Given the description of an element on the screen output the (x, y) to click on. 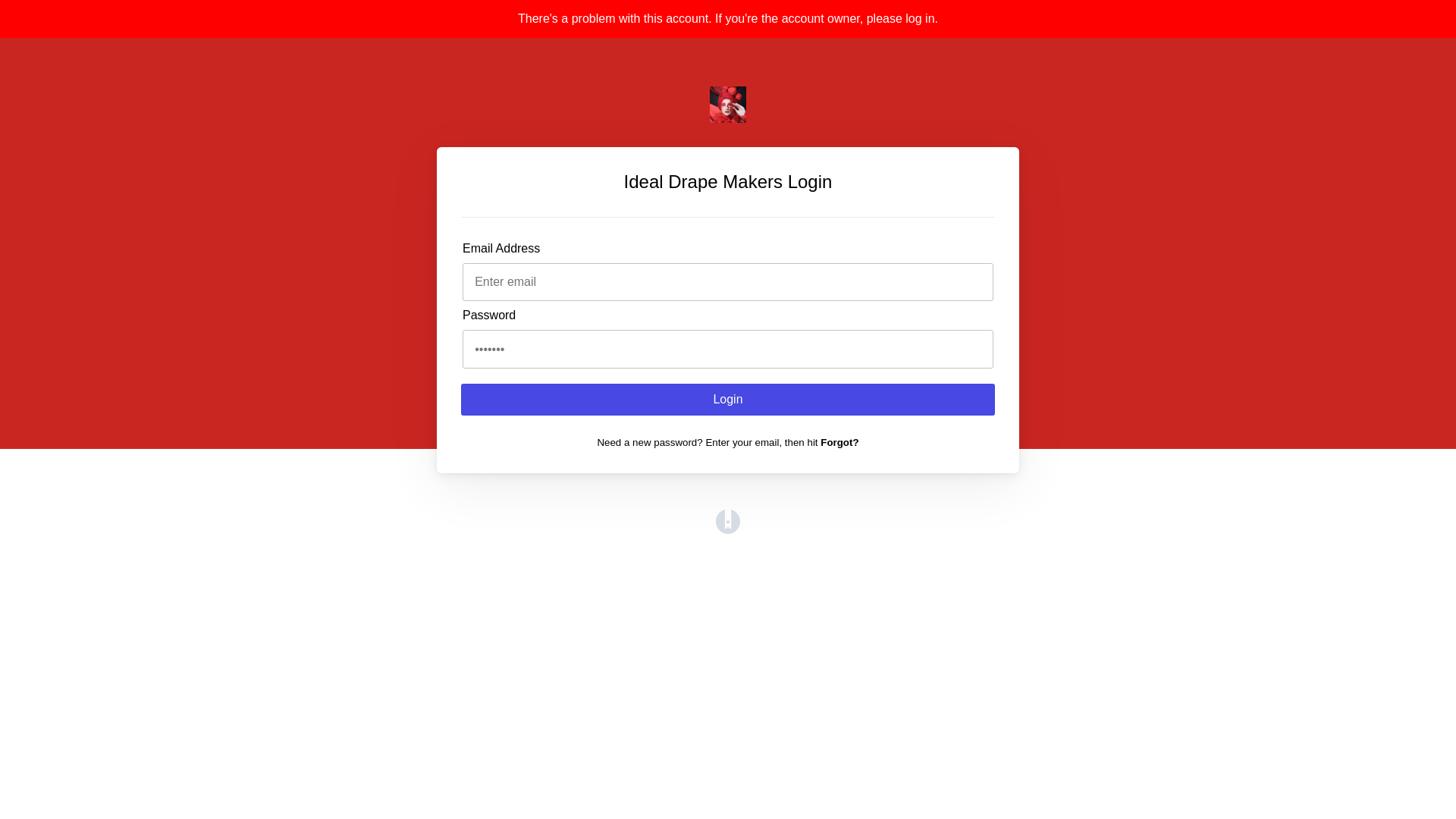
(opens in a new tab) Element type: text (727, 529)
Login Element type: text (727, 399)
